Given the description of an element on the screen output the (x, y) to click on. 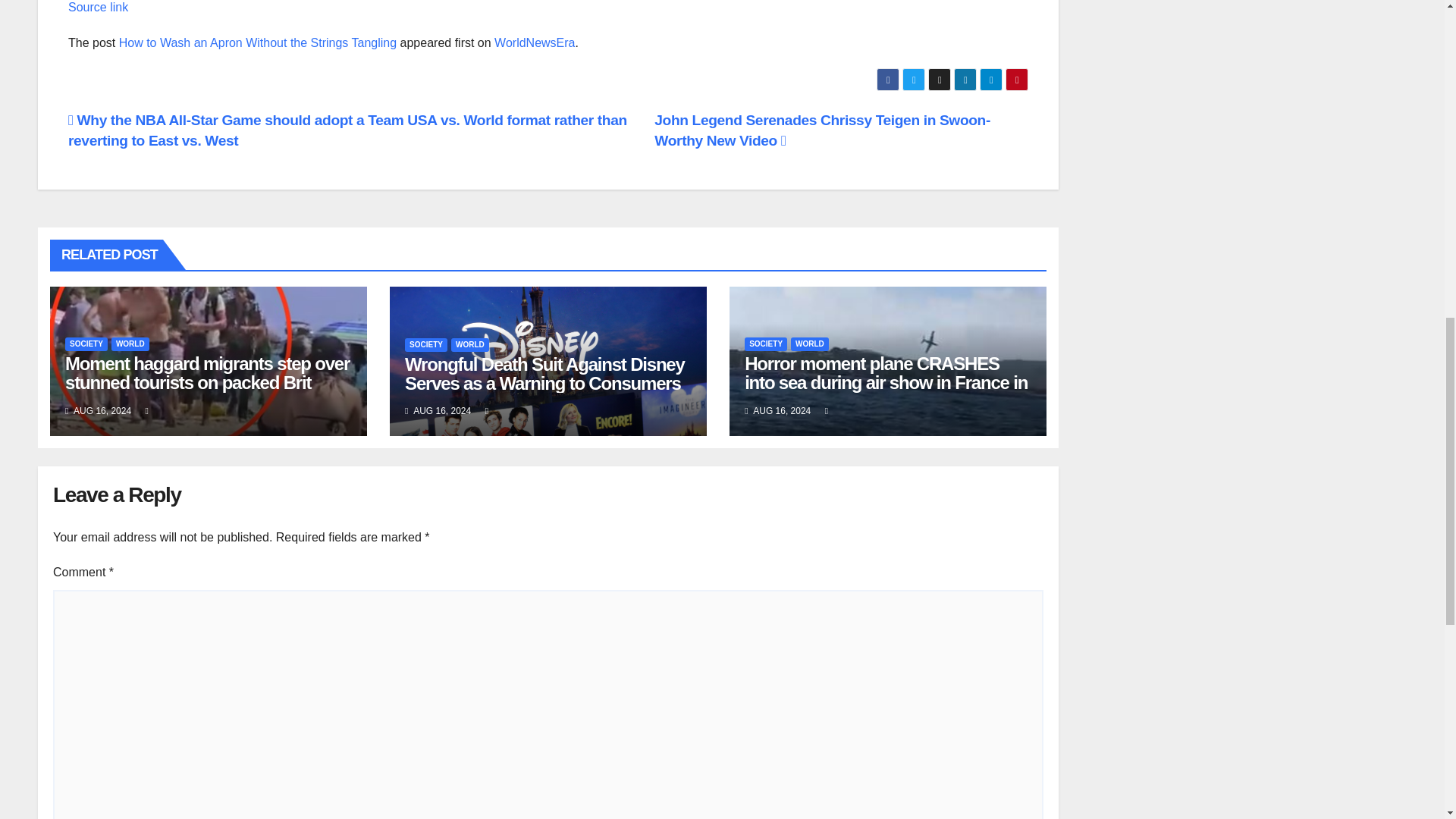
WORLD (130, 344)
SOCIETY (86, 344)
How to Wash an Apron Without the Strings Tangling (257, 42)
Source link (98, 6)
WorldNewsEra (535, 42)
